Given the description of an element on the screen output the (x, y) to click on. 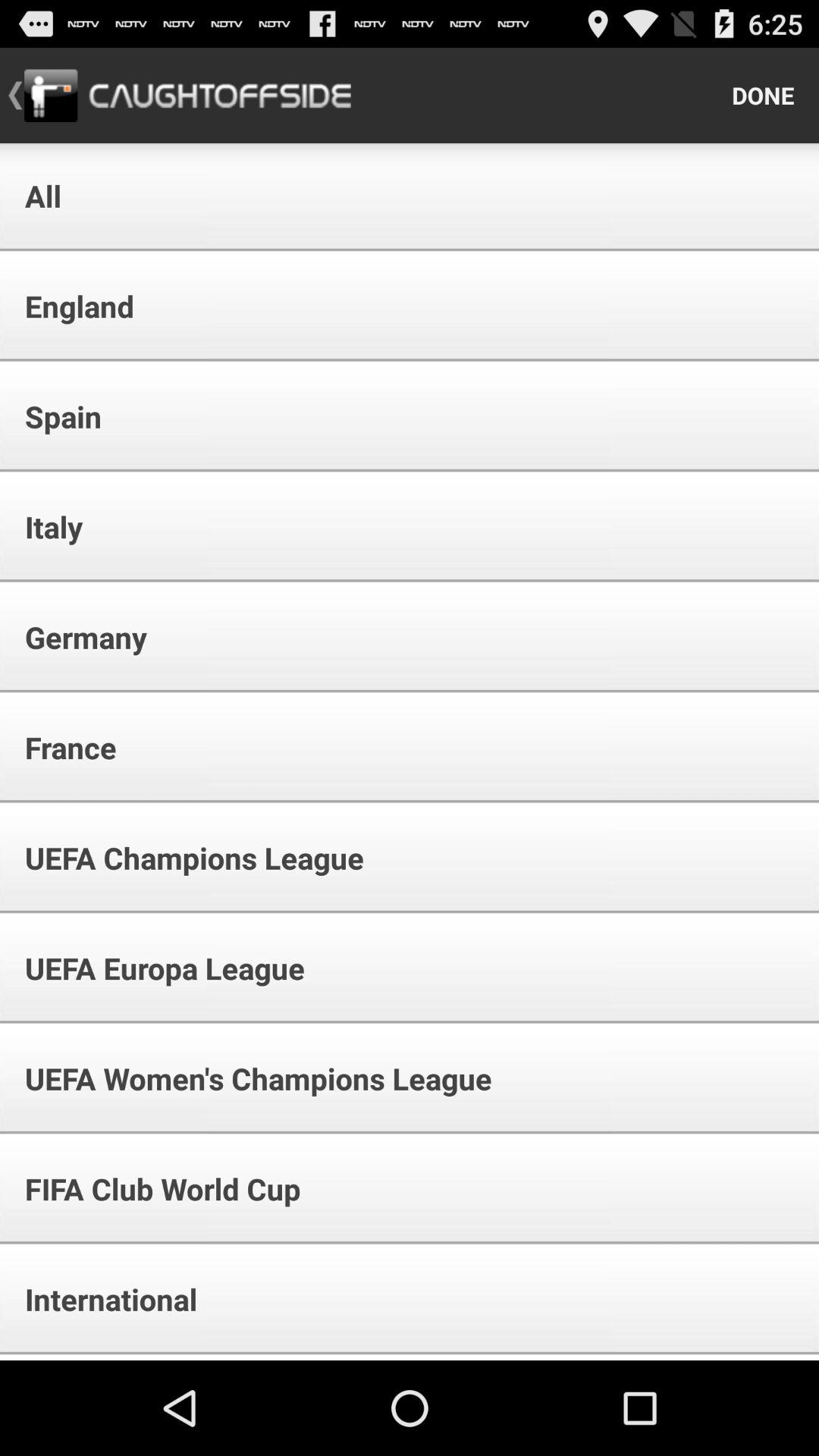
click on done option (763, 95)
